Given the description of an element on the screen output the (x, y) to click on. 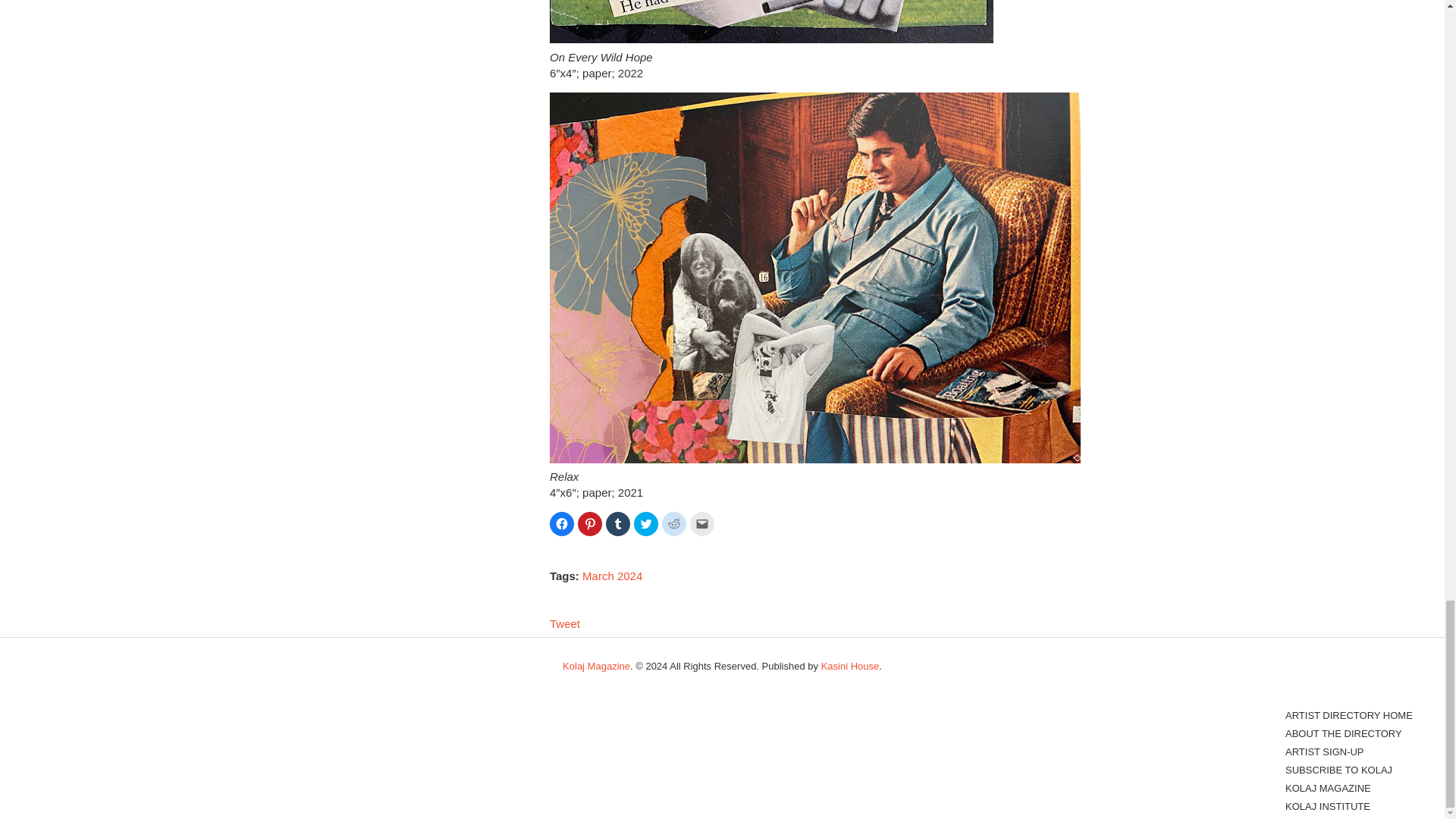
Click to share on Tumblr (617, 523)
Click to email a link to a friend (702, 523)
Click to share on Reddit (673, 523)
Click to share on Facebook (561, 523)
Tweet (564, 623)
Click to share on Pinterest (590, 523)
KOLAJ INSTITUTE (1327, 806)
Kolaj Magazine (596, 665)
ABOUT THE DIRECTORY (1343, 733)
KOLAJ MAGAZINE (1328, 787)
SUBSCRIBE TO KOLAJ (1338, 769)
Kasini House (850, 665)
ARTIST DIRECTORY HOME (1348, 715)
Click to share on Twitter (645, 523)
ARTIST SIGN-UP (1324, 751)
